Given the description of an element on the screen output the (x, y) to click on. 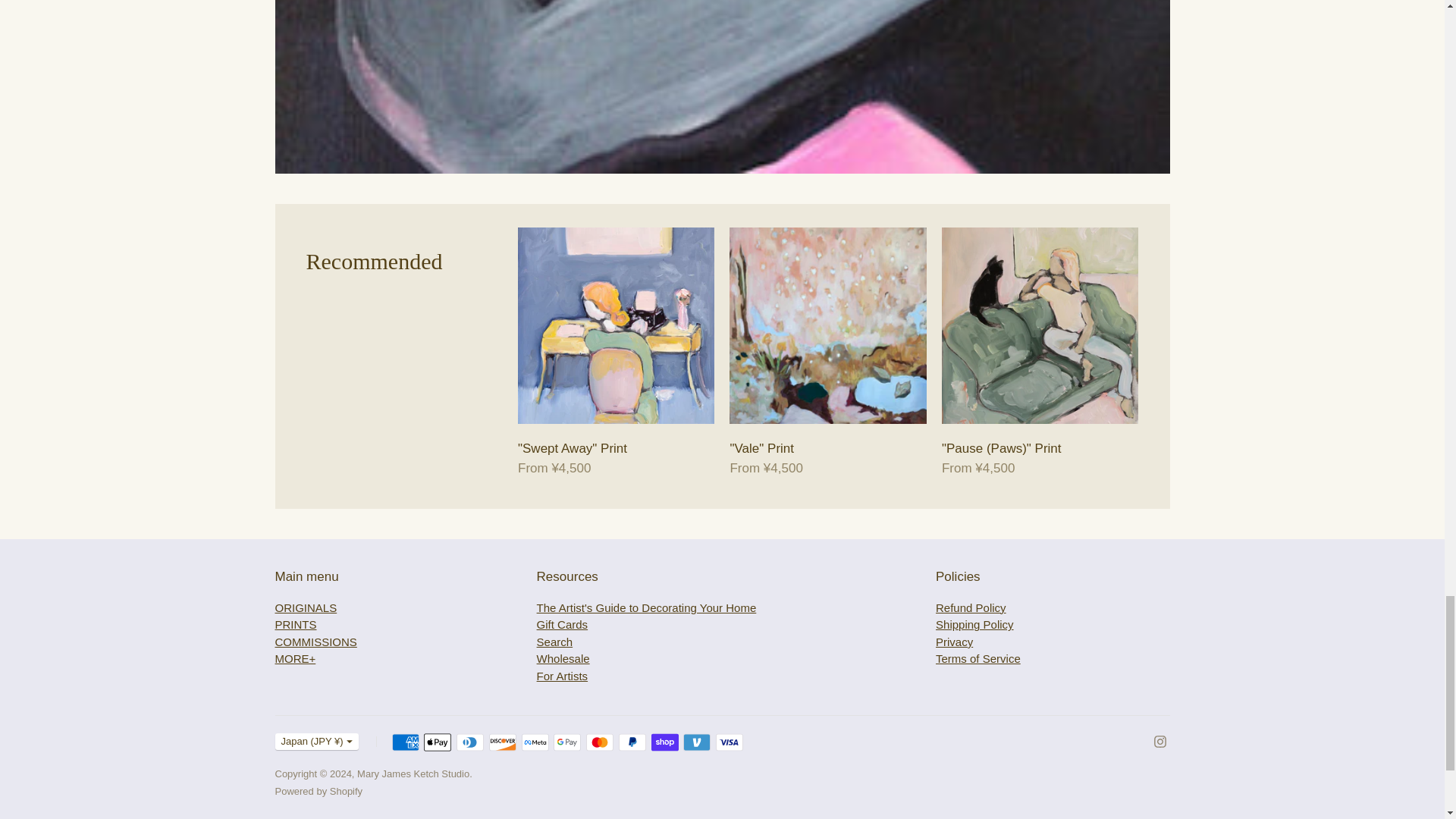
Discover (502, 742)
Meta Pay (534, 742)
Google Pay (566, 742)
Mastercard (599, 742)
PayPal (632, 742)
Diners Club (470, 742)
Apple Pay (437, 742)
American Express (405, 742)
